Given the description of an element on the screen output the (x, y) to click on. 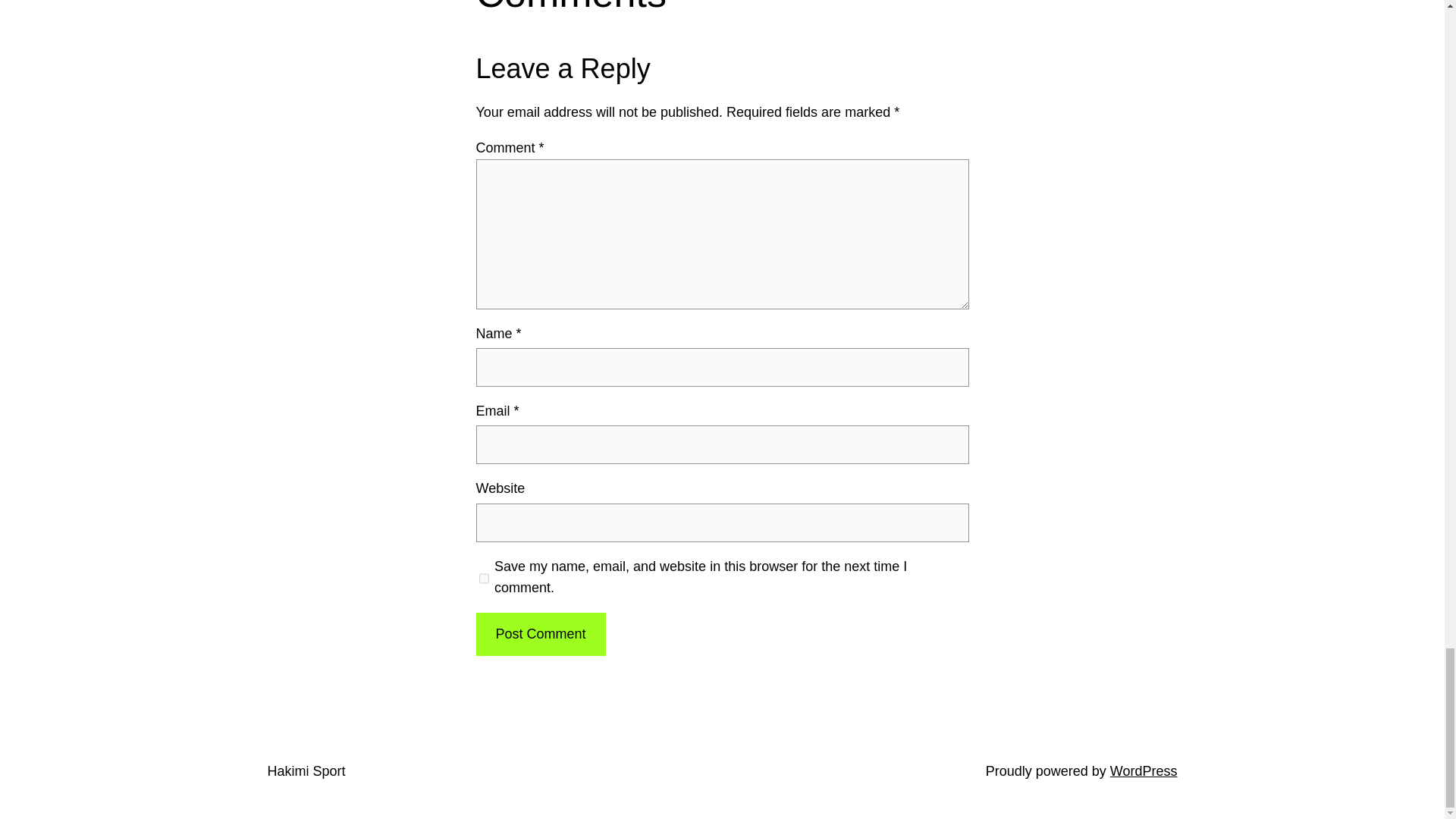
WordPress (1143, 770)
Post Comment (540, 634)
Hakimi Sport (305, 770)
Post Comment (540, 634)
